Given the description of an element on the screen output the (x, y) to click on. 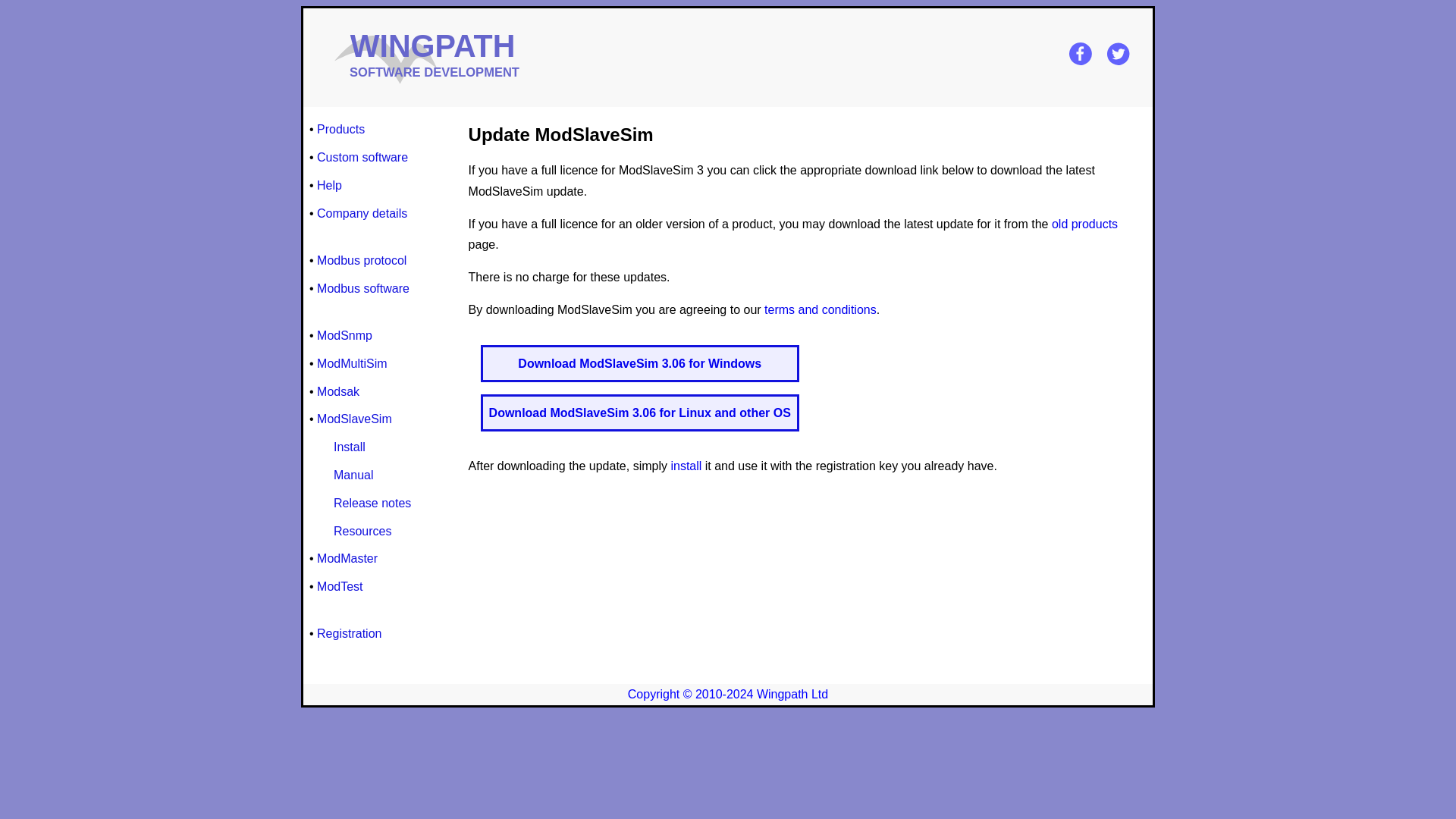
install (685, 465)
ModSlaveSim - Programmable Modbus slave simulator (354, 418)
Help (329, 185)
Software for the Modbus protocol (363, 288)
Download ModSlaveSim 3.06 for Windows (639, 362)
Downloadable resources for use with ModSlaveSim (362, 530)
How to contact us (362, 213)
Ordering information (329, 185)
Modsak (338, 391)
ModTest (339, 586)
